Given the description of an element on the screen output the (x, y) to click on. 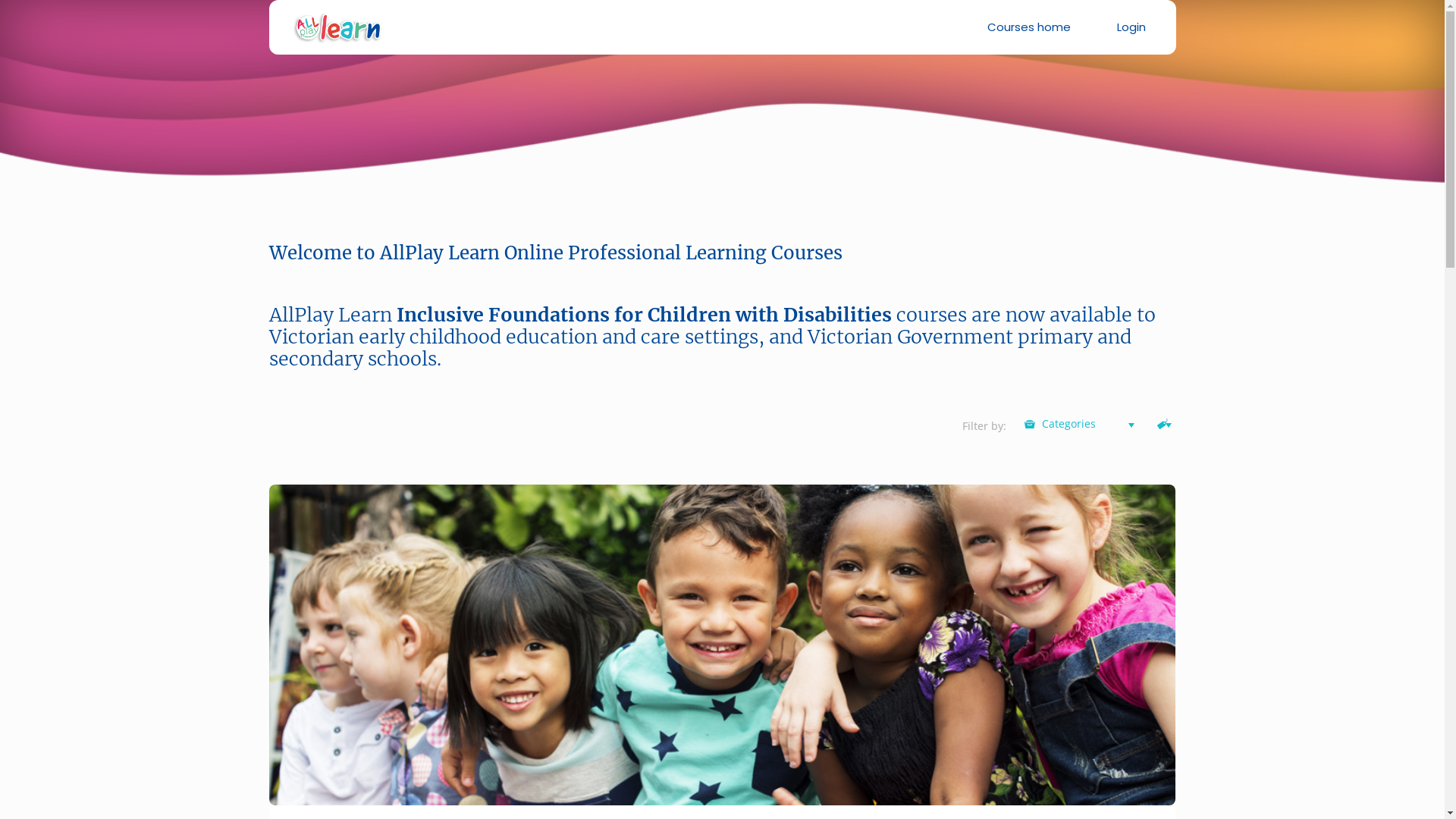
AllPlay Learn Element type: hover (337, 27)
Courses home Element type: text (1028, 27)
Login Element type: text (1130, 27)
